Given the description of an element on the screen output the (x, y) to click on. 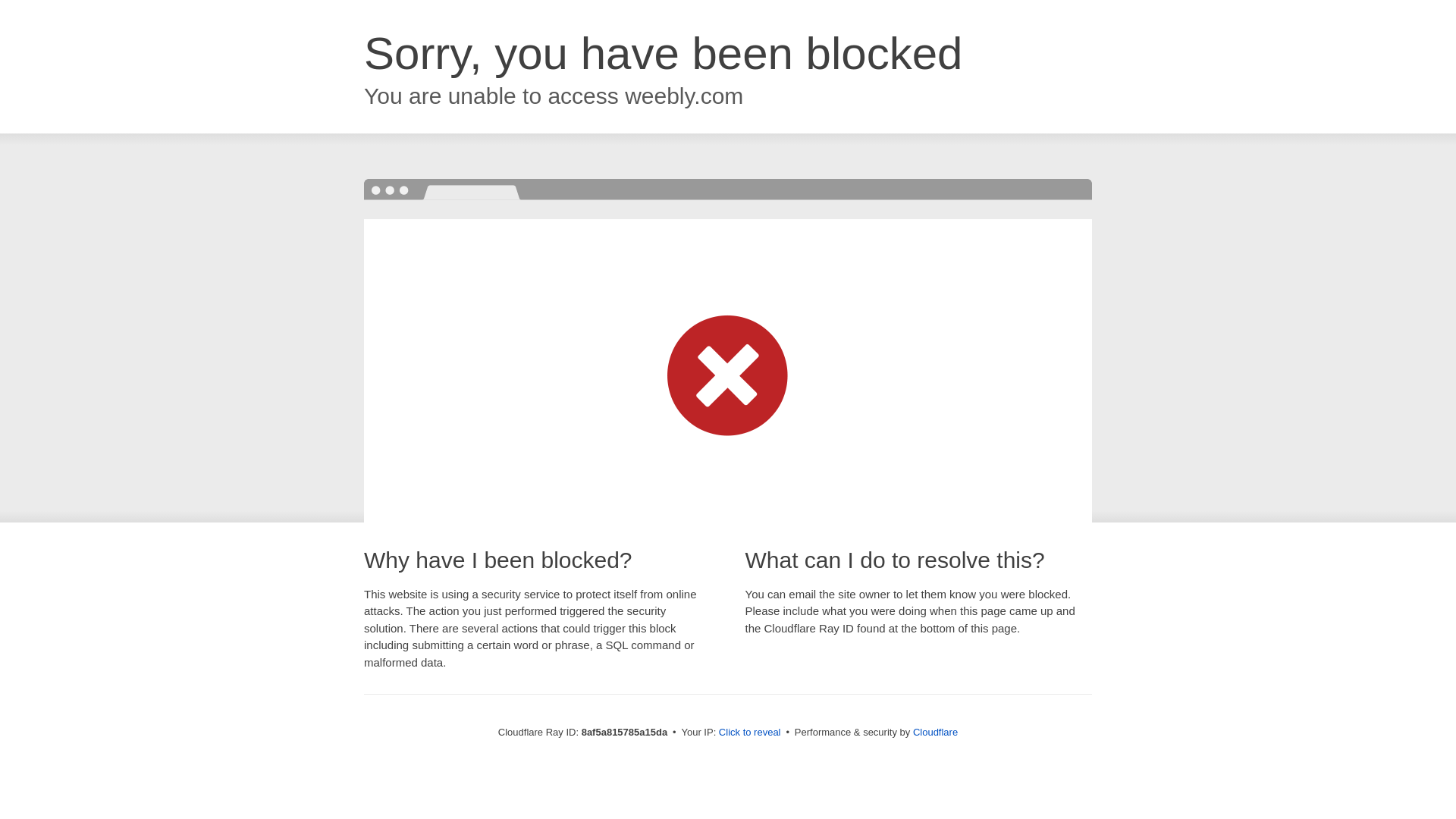
Cloudflare (935, 731)
Click to reveal (749, 732)
